Given the description of an element on the screen output the (x, y) to click on. 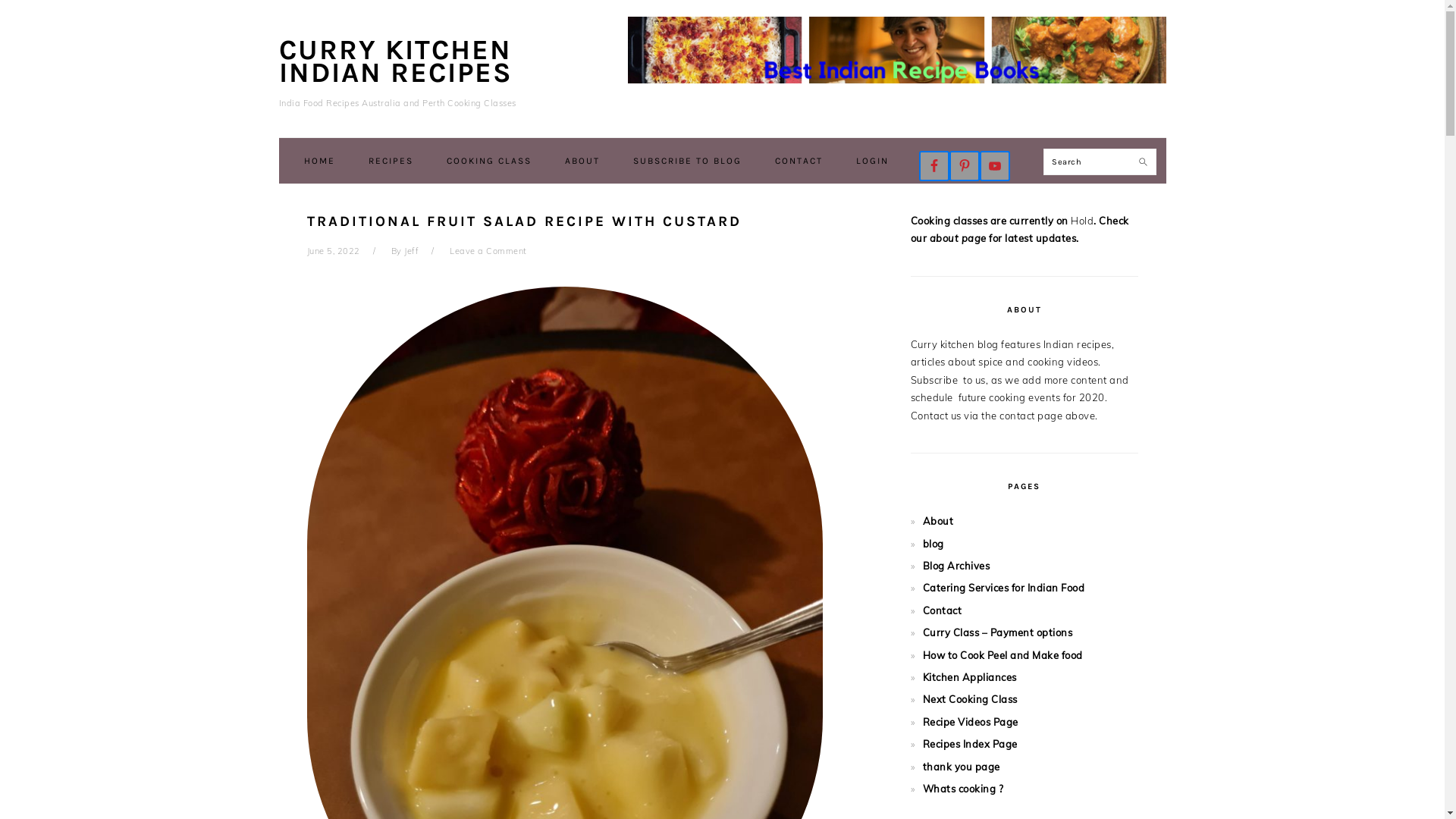
Blog Archives Element type: text (955, 565)
COOKING CLASS Element type: text (488, 160)
Indian cookbooks Element type: hover (896, 49)
Whats cooking ? Element type: text (962, 788)
Leave a Comment Element type: text (488, 250)
Jeff Element type: text (411, 250)
thank you page Element type: text (960, 766)
CONTACT Element type: text (798, 160)
blog Element type: text (932, 543)
RECIPES Element type: text (390, 160)
CURRY KITCHEN INDIAN RECIPES Element type: text (395, 60)
LOGIN Element type: text (872, 160)
Catering Services for Indian Food Element type: text (1003, 587)
HOME Element type: text (319, 160)
about page Element type: text (957, 238)
Search Element type: text (1147, 156)
Kitchen Appliances Element type: text (969, 677)
Recipe Videos Page Element type: text (969, 721)
Contact Element type: text (941, 610)
About Element type: text (937, 520)
TRADITIONAL FRUIT SALAD RECIPE WITH CUSTARD Element type: text (523, 221)
Recipes Index Page Element type: text (969, 743)
ABOUT Element type: text (582, 160)
Next Cooking Class Element type: text (969, 699)
SUBSCRIBE TO BLOG Element type: text (687, 160)
How to Cook Peel and Make food Element type: text (1002, 655)
Skip to primary navigation Element type: text (0, 0)
